Given the description of an element on the screen output the (x, y) to click on. 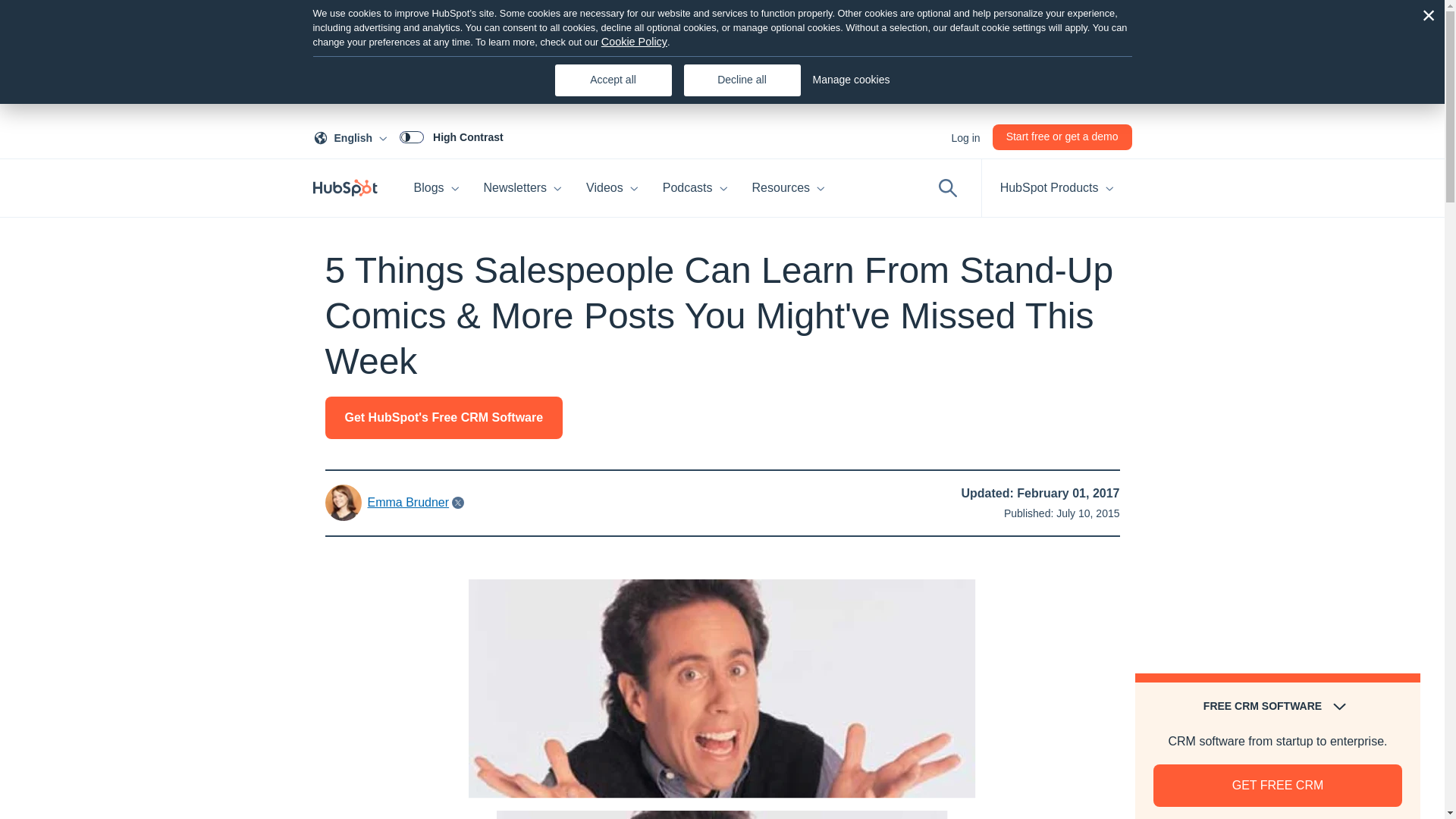
Manage cookies (850, 80)
Newsletters (523, 187)
Log in (353, 136)
Blogs (964, 137)
Start free or get a demo (436, 187)
High Contrast (1062, 136)
